Given the description of an element on the screen output the (x, y) to click on. 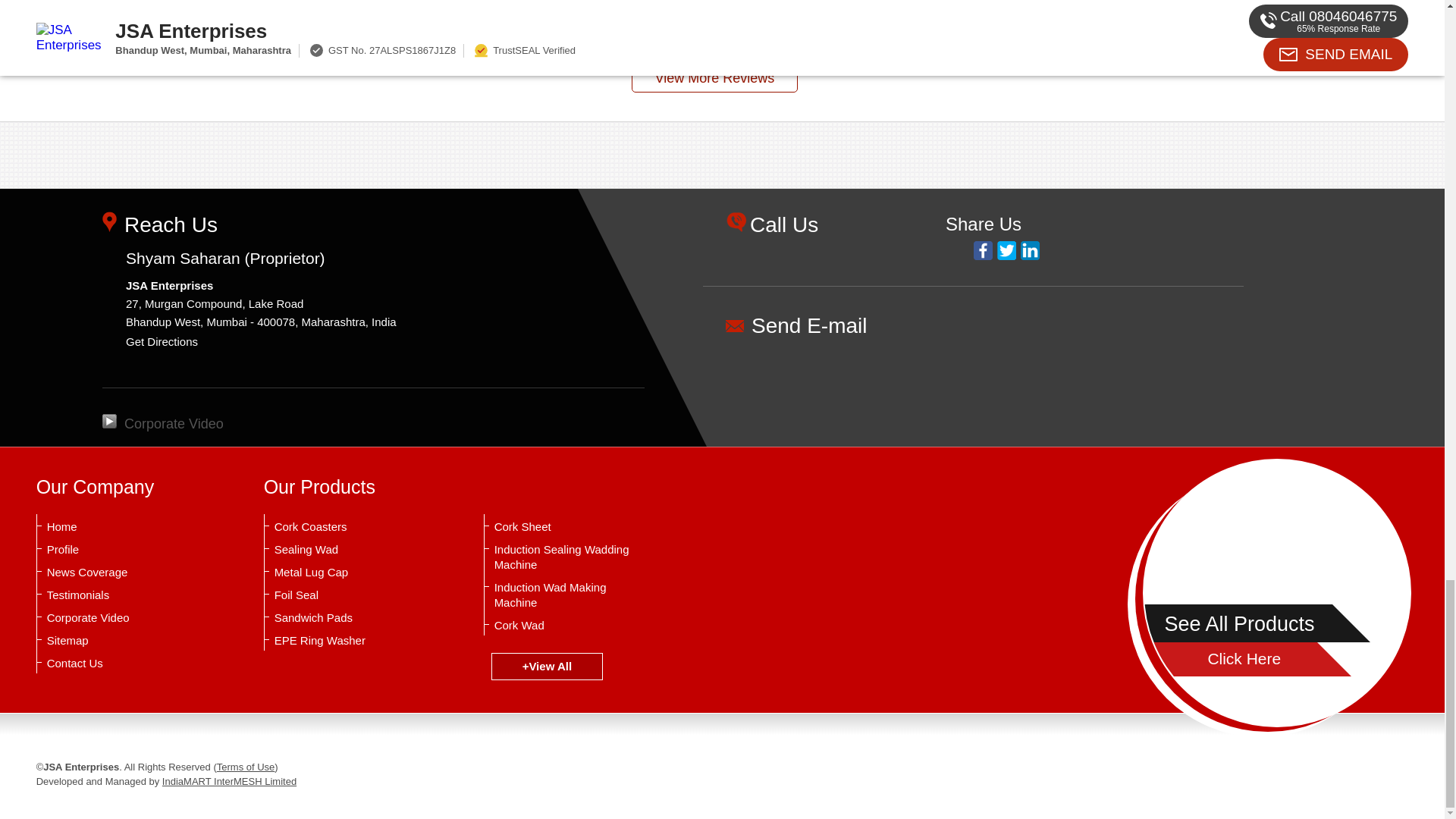
View More Reviews (714, 77)
Get Directions (161, 341)
Corporate Video (162, 423)
